Given the description of an element on the screen output the (x, y) to click on. 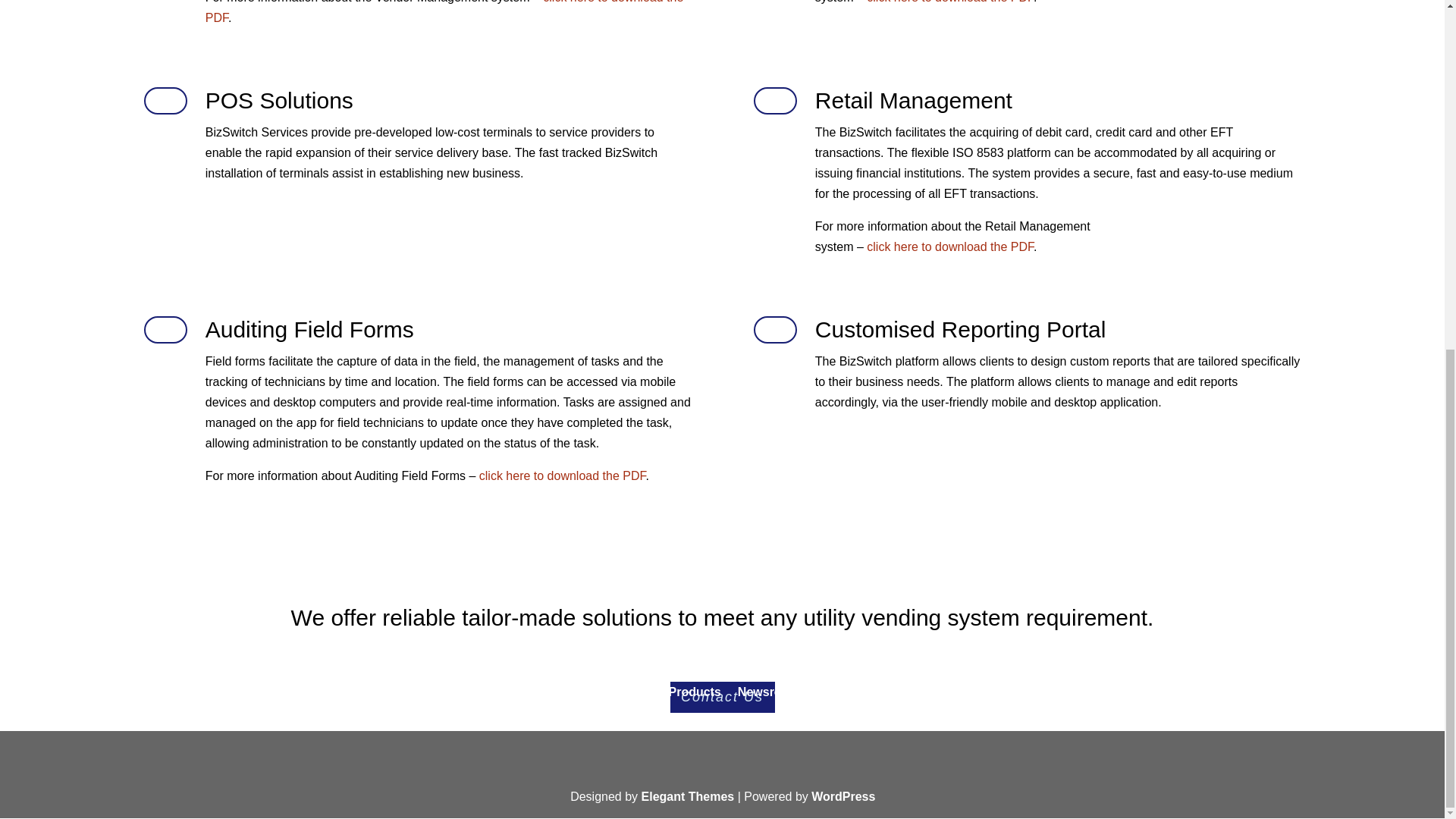
click here to download the PDF (444, 12)
Premium WordPress Themes (688, 796)
Contact Us (721, 696)
Products (702, 692)
Home (571, 692)
click here to download the PDF (562, 475)
click here to download the PDF (949, 2)
Newsroom (777, 692)
About Us (632, 692)
click here to download the PDF (949, 246)
Contact Us (856, 692)
WordPress (842, 796)
Elegant Themes (688, 796)
